Given the description of an element on the screen output the (x, y) to click on. 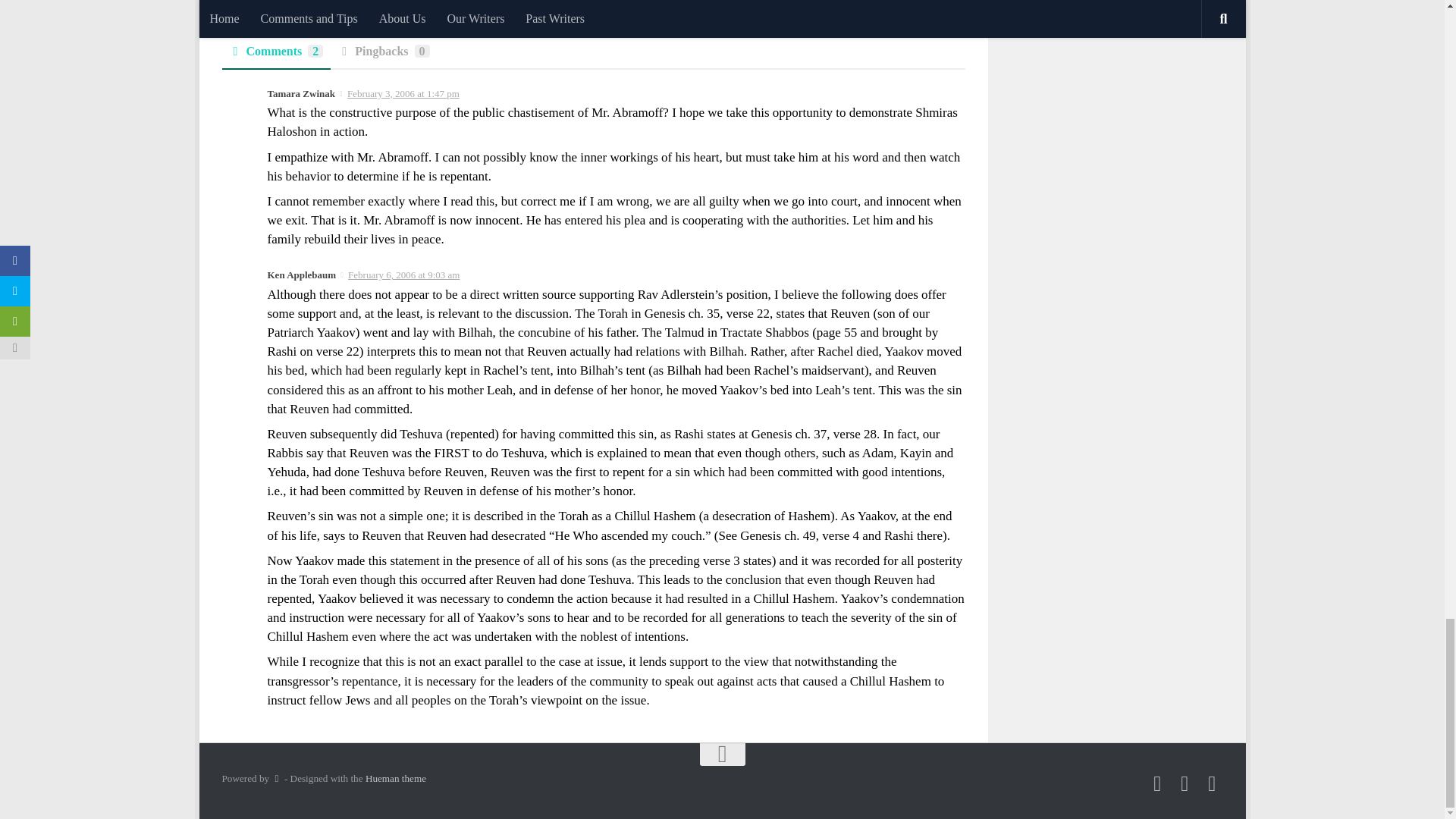
February 6, 2006 at 9:03 am (403, 274)
Comments2 (275, 55)
Pingbacks0 (383, 55)
February 3, 2006 at 1:47 pm (403, 93)
